Given the description of an element on the screen output the (x, y) to click on. 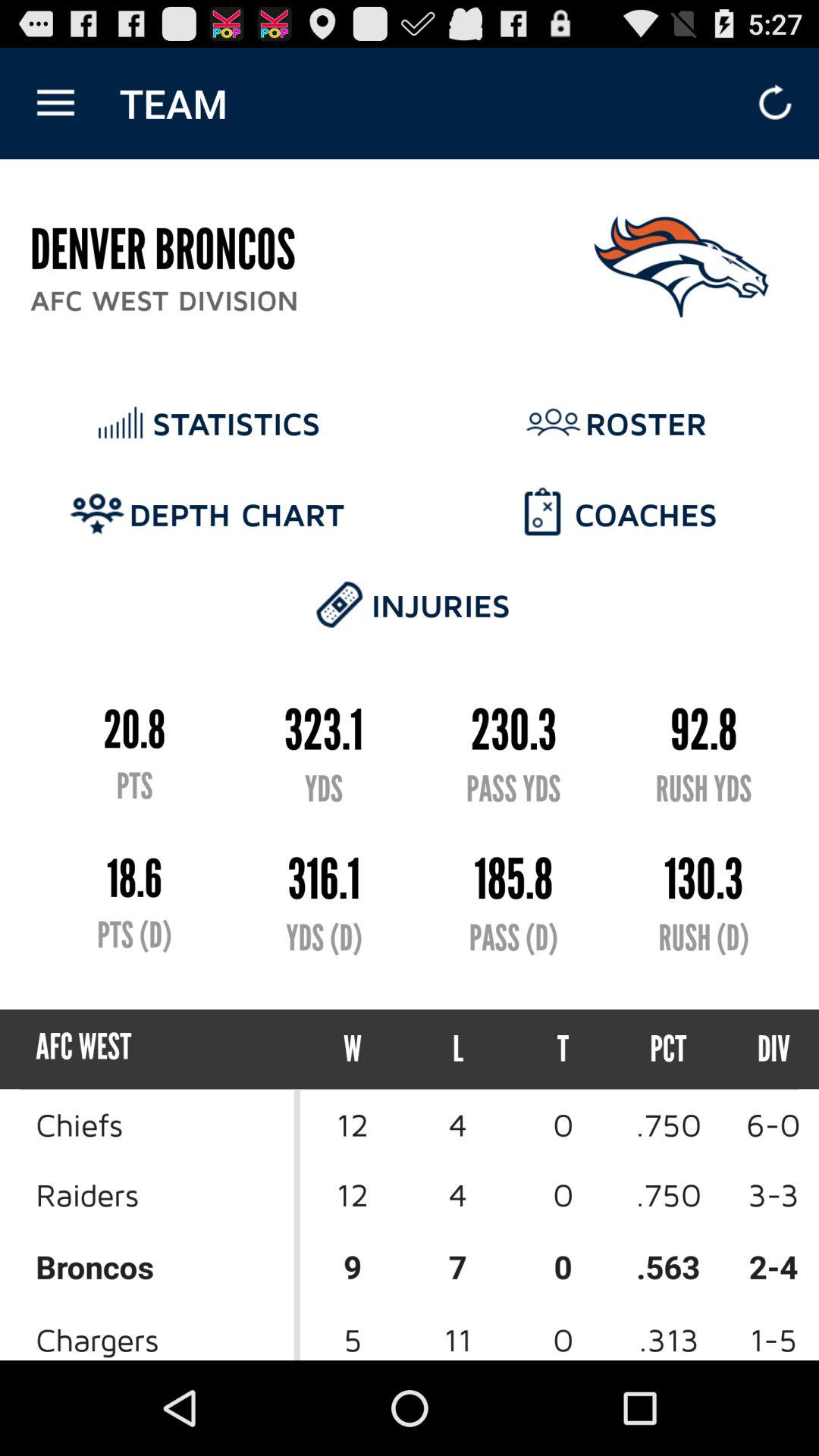
launch icon above chiefs (352, 1049)
